Given the description of an element on the screen output the (x, y) to click on. 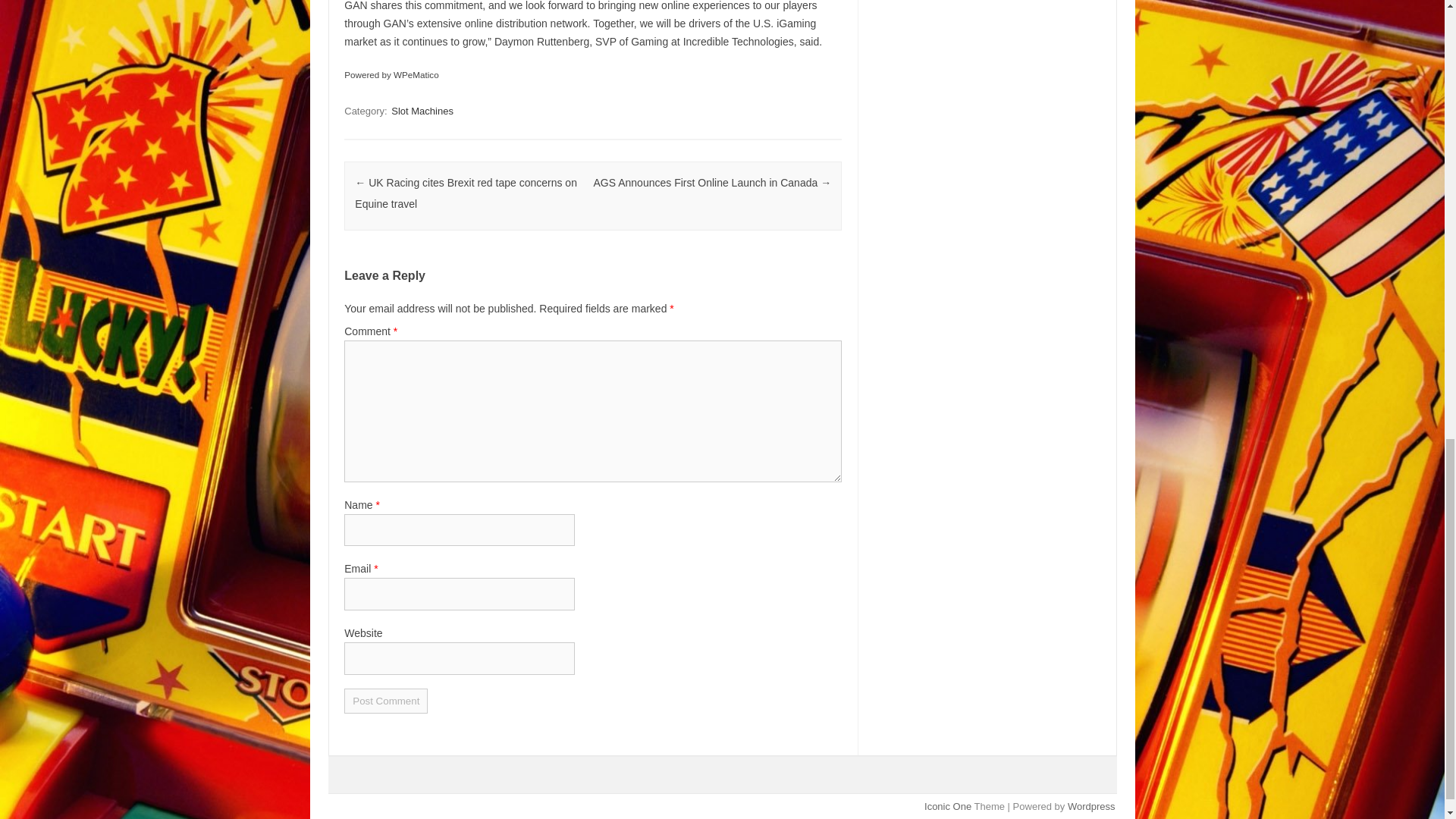
Iconic One (947, 806)
Slot Machines (422, 110)
Wordpress (1091, 806)
Post Comment (385, 700)
Post Comment (385, 700)
